Given the description of an element on the screen output the (x, y) to click on. 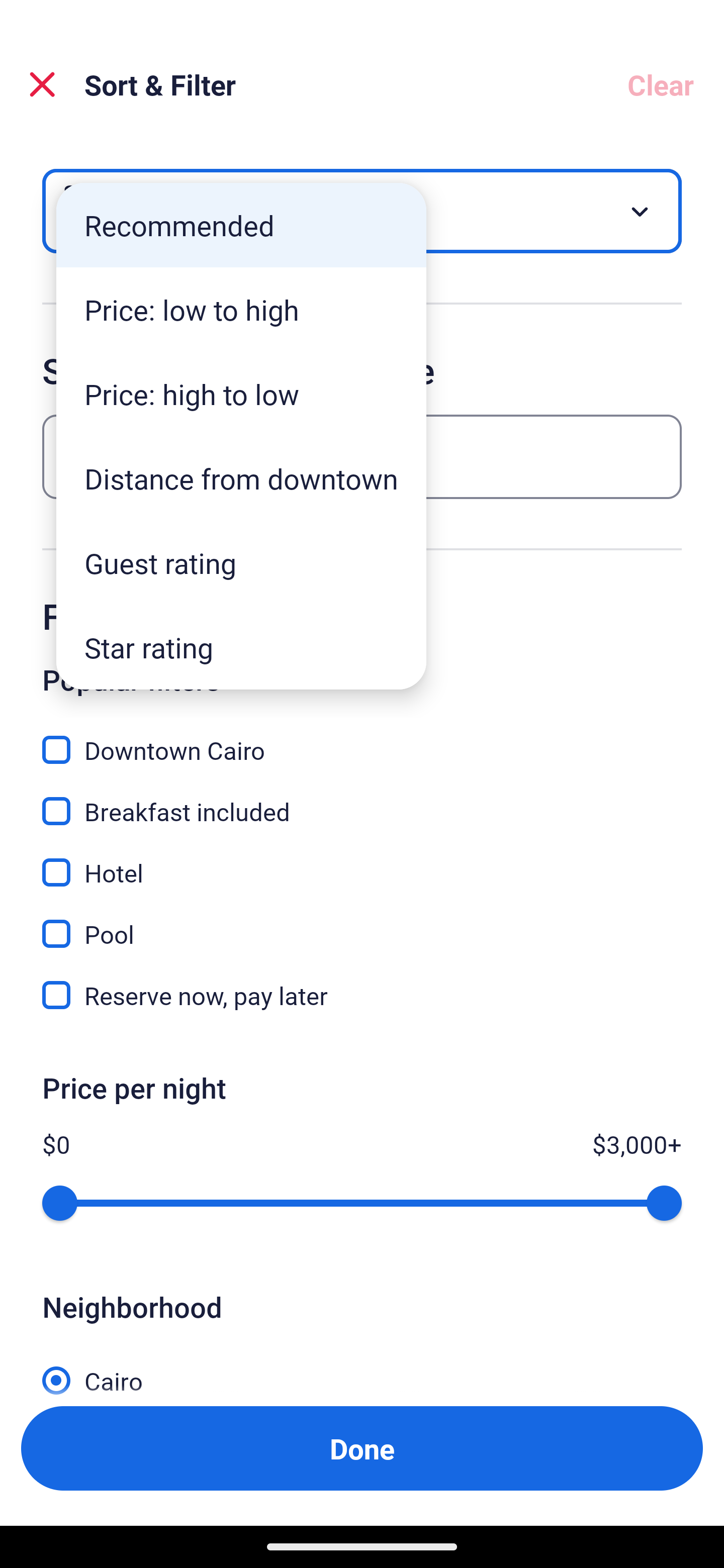
Price: low to high (241, 309)
Price: high to low (241, 393)
Distance from downtown (241, 477)
Guest rating (241, 562)
Star rating (241, 647)
